Given the description of an element on the screen output the (x, y) to click on. 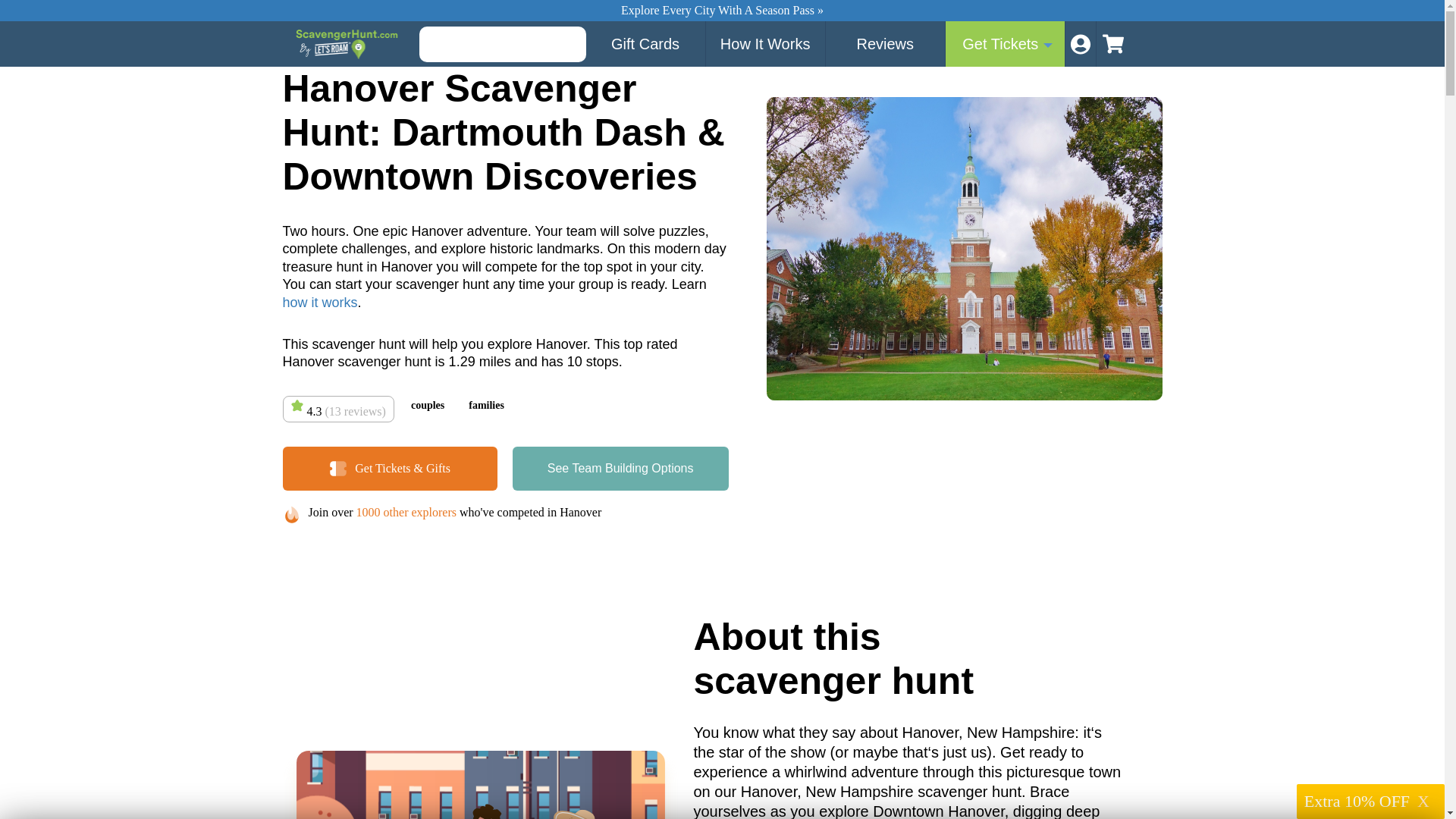
how it works (319, 302)
how it works (319, 302)
Get Tickets (1004, 43)
Get Scavenger Hunt Tickets (1004, 43)
Get Tickets (620, 468)
Reviews (884, 43)
Reviews (884, 43)
See Team Building Options (620, 468)
Gift Cards (644, 43)
How It Works (765, 43)
